Given the description of an element on the screen output the (x, y) to click on. 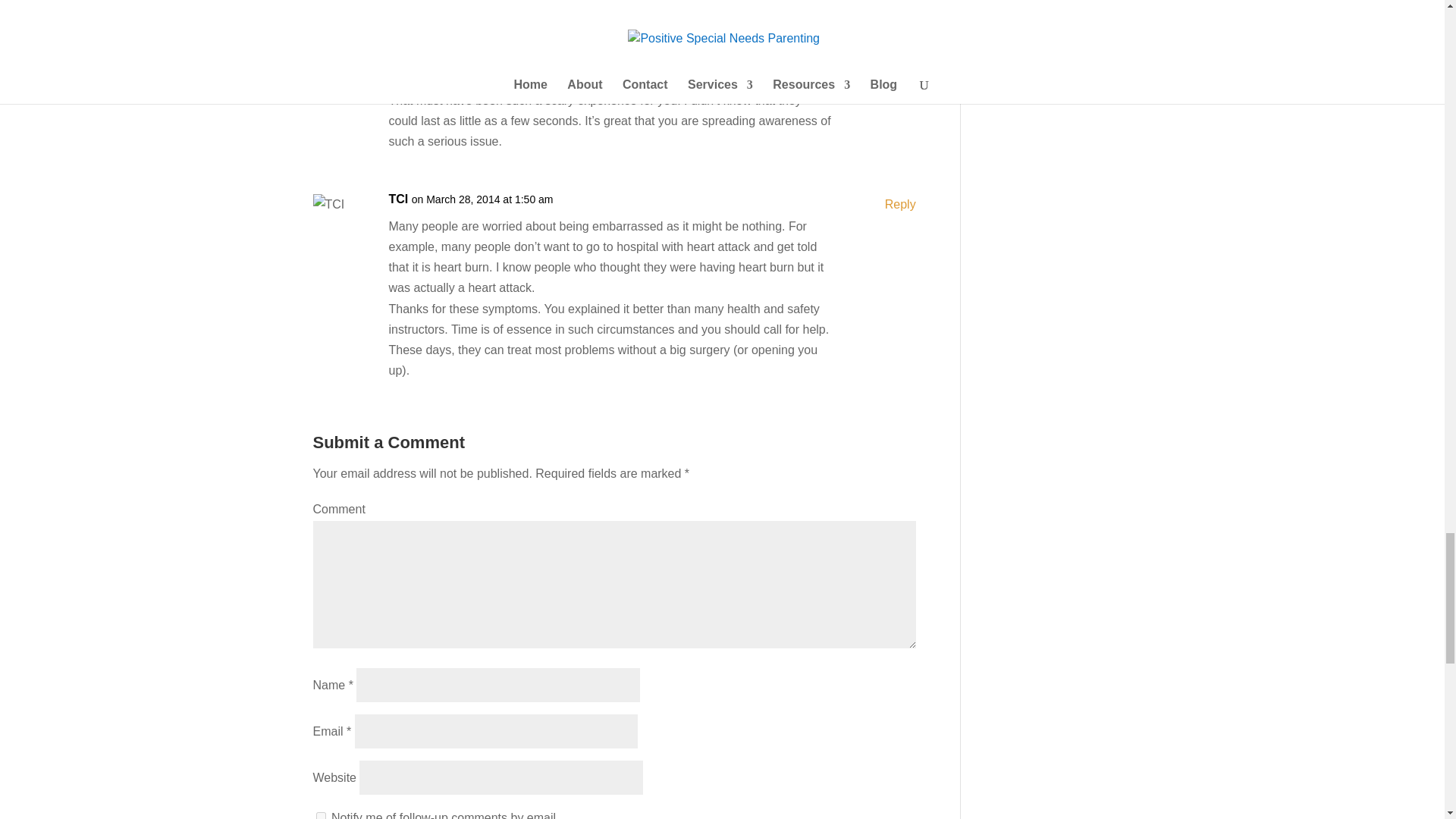
subscribe (319, 815)
